Given the description of an element on the screen output the (x, y) to click on. 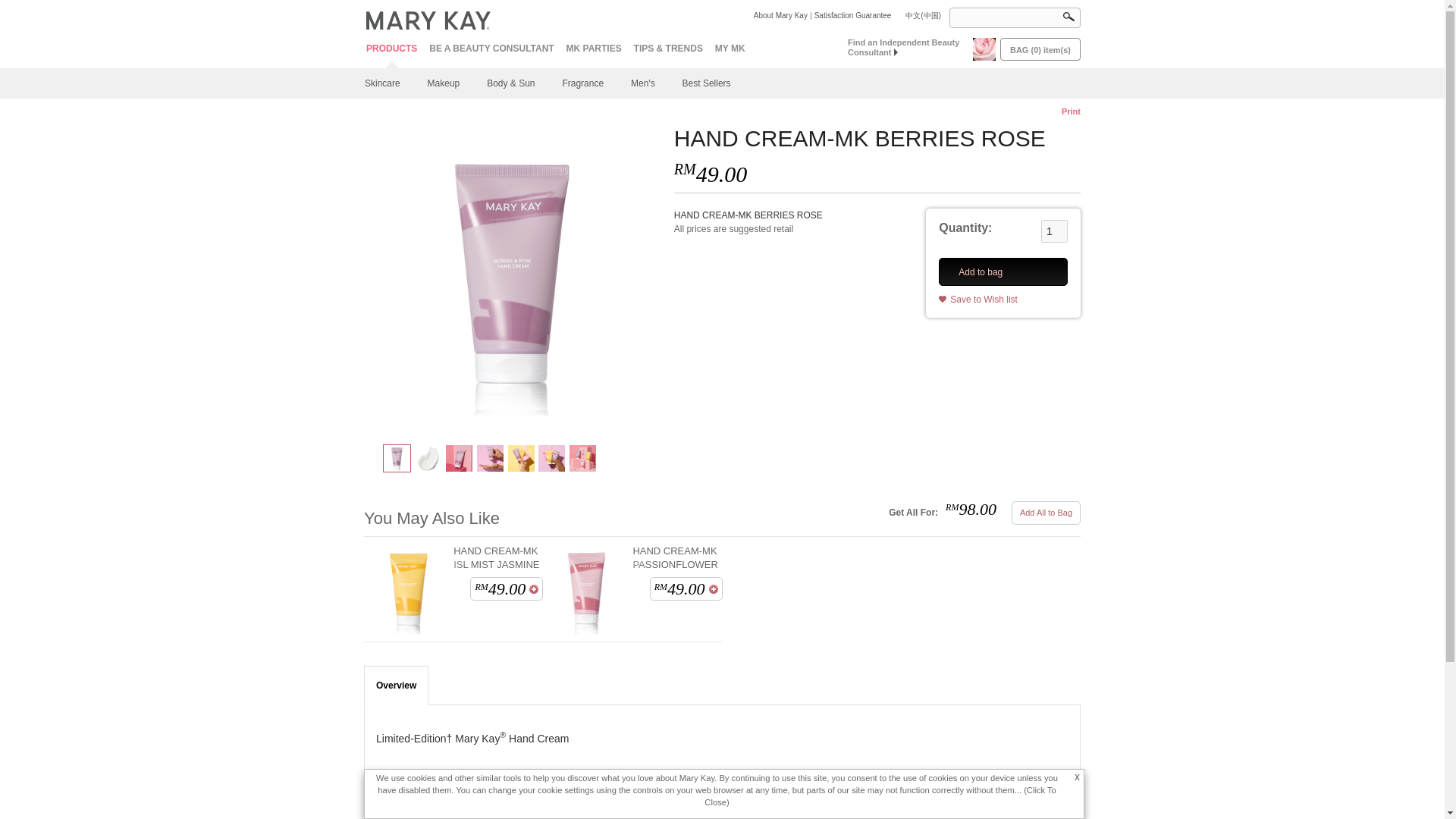
Satisfaction Guarantee (851, 15)
Find an Independent Beauty Consultant (905, 47)
Add to bag (712, 588)
Host A Party (593, 49)
Add to bag (533, 588)
1 (1054, 231)
